Given the description of an element on the screen output the (x, y) to click on. 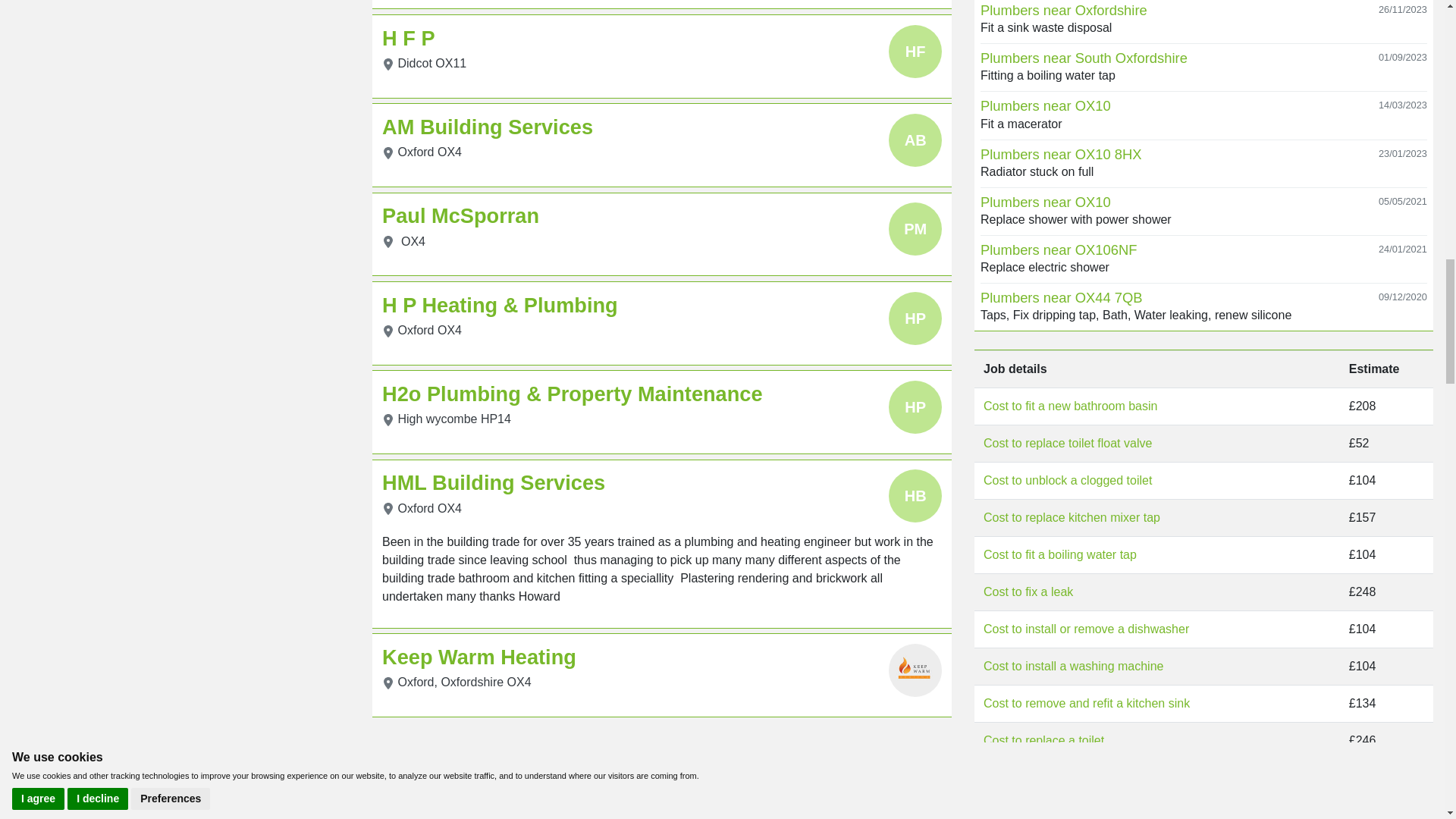
Cost to fix a leak (1028, 591)
Cost to install or remove a dishwasher (1086, 628)
Cost to unblock a clogged toilet (1067, 480)
Cost to fit a boiling water tap (1060, 554)
Cost to fit a new bathroom basin (1070, 405)
Cost to replace kitchen mixer tap (1072, 517)
Cost to replace toilet float valve (1067, 442)
